Given the description of an element on the screen output the (x, y) to click on. 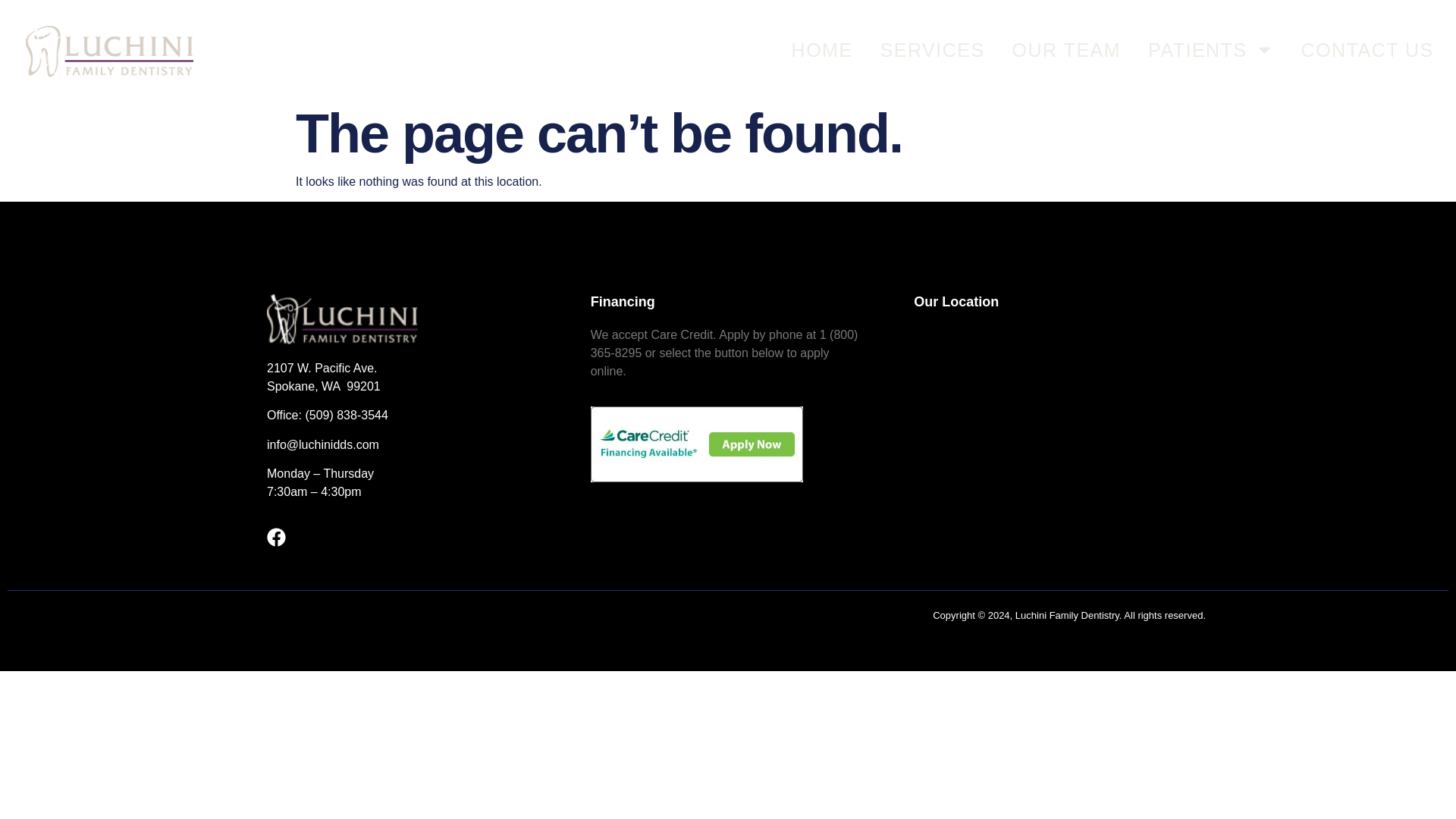
2107 W. Pacific Ave. Spokane, WA  99201 (1051, 439)
Luchini-Family-Dentistry (341, 318)
CONTACT US (1367, 49)
SERVICES (932, 49)
HOME (822, 49)
OUR TEAM (1066, 49)
PATIENTS (1211, 49)
